Given the description of an element on the screen output the (x, y) to click on. 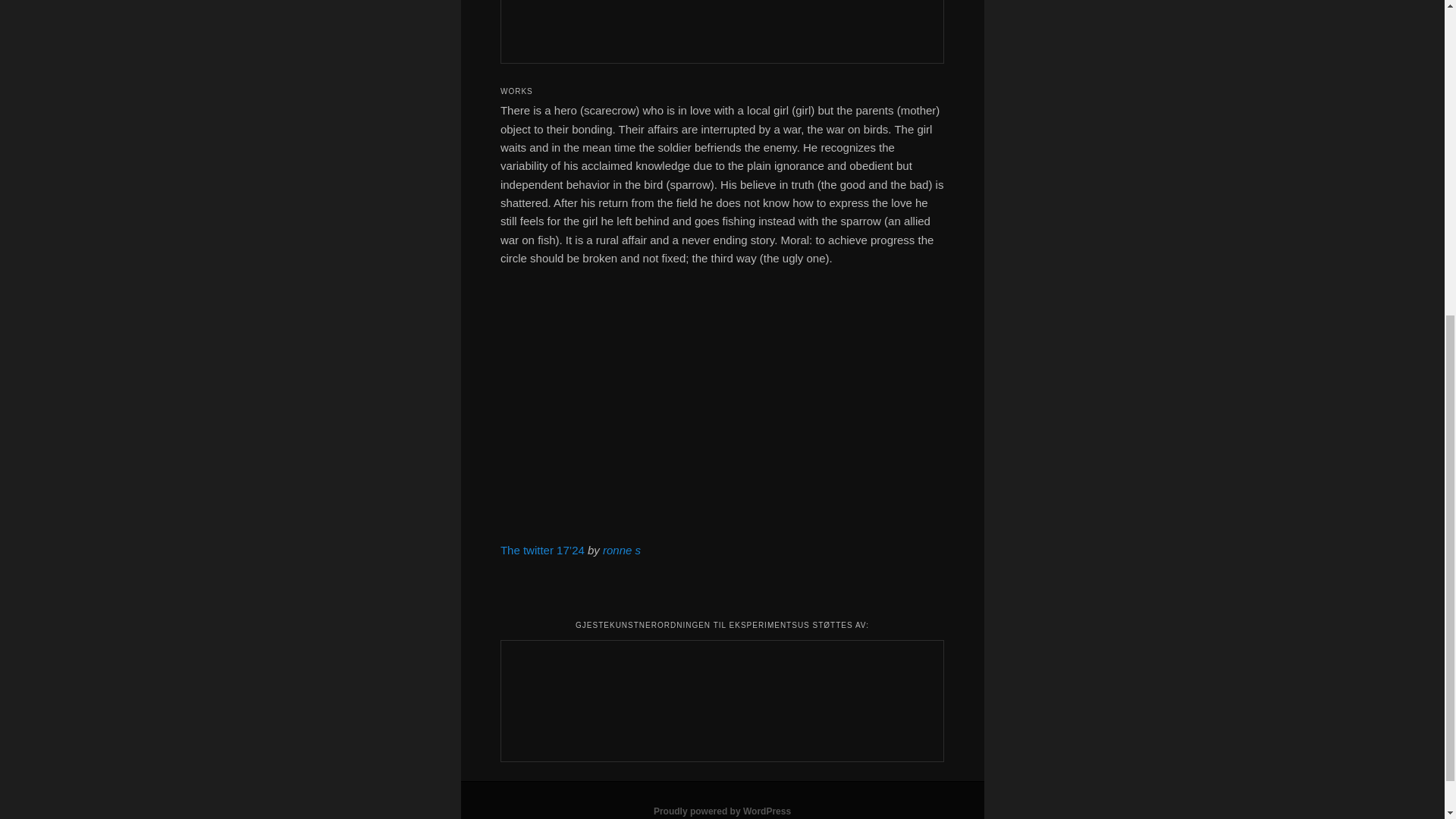
Proudly powered by WordPress (721, 810)
Semantic Personal Publishing Platform (721, 810)
ronne s (621, 549)
